Given the description of an element on the screen output the (x, y) to click on. 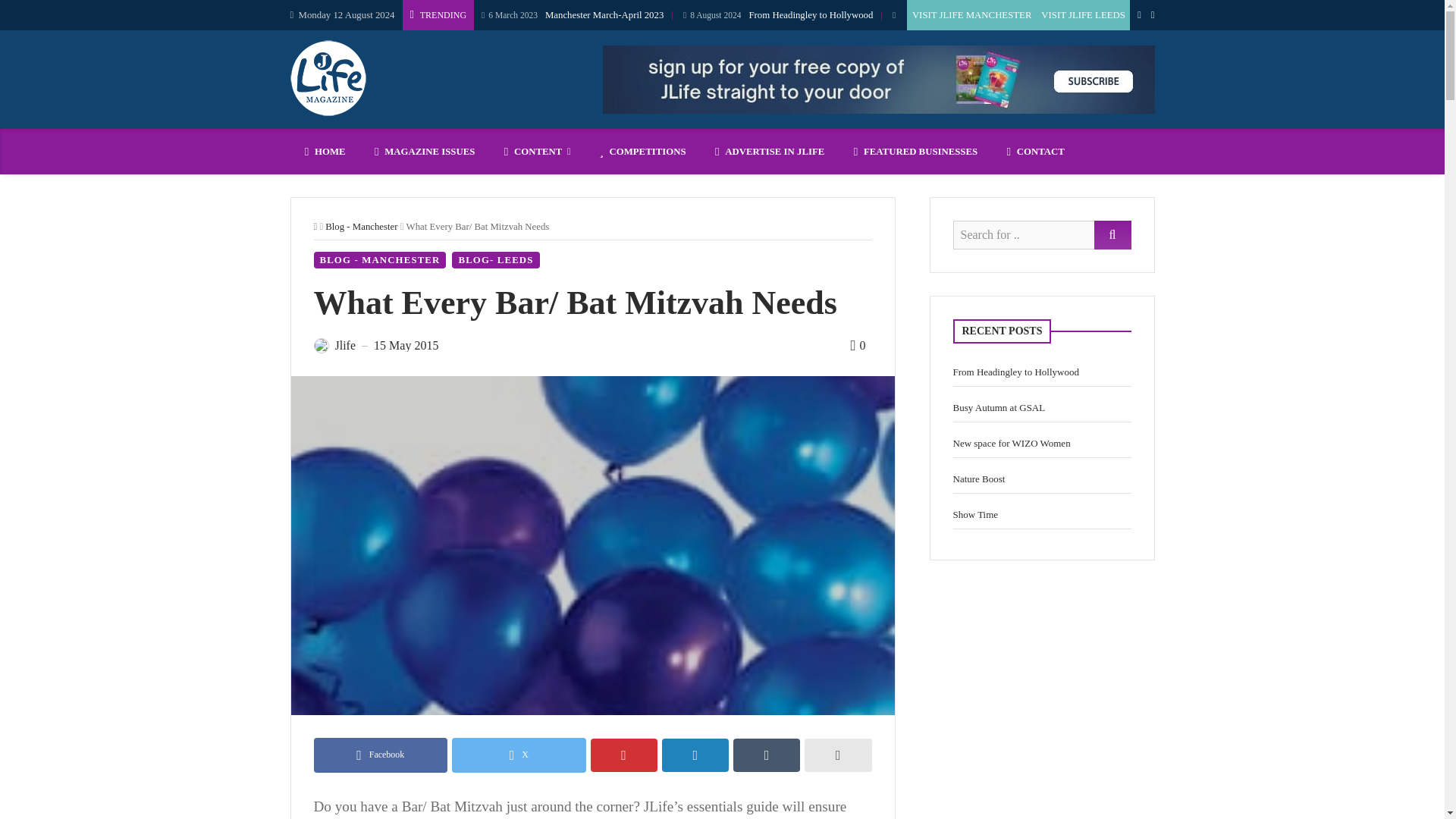
COMPETITIONS (642, 151)
HOME (324, 151)
VISIT JLIFE MANCHESTER (971, 15)
BLOG- LEEDS (494, 260)
BLOG - MANCHESTER (978, 15)
VISIT JLIFE LEEDS (581, 15)
15 May 2015 (380, 260)
